Given the description of an element on the screen output the (x, y) to click on. 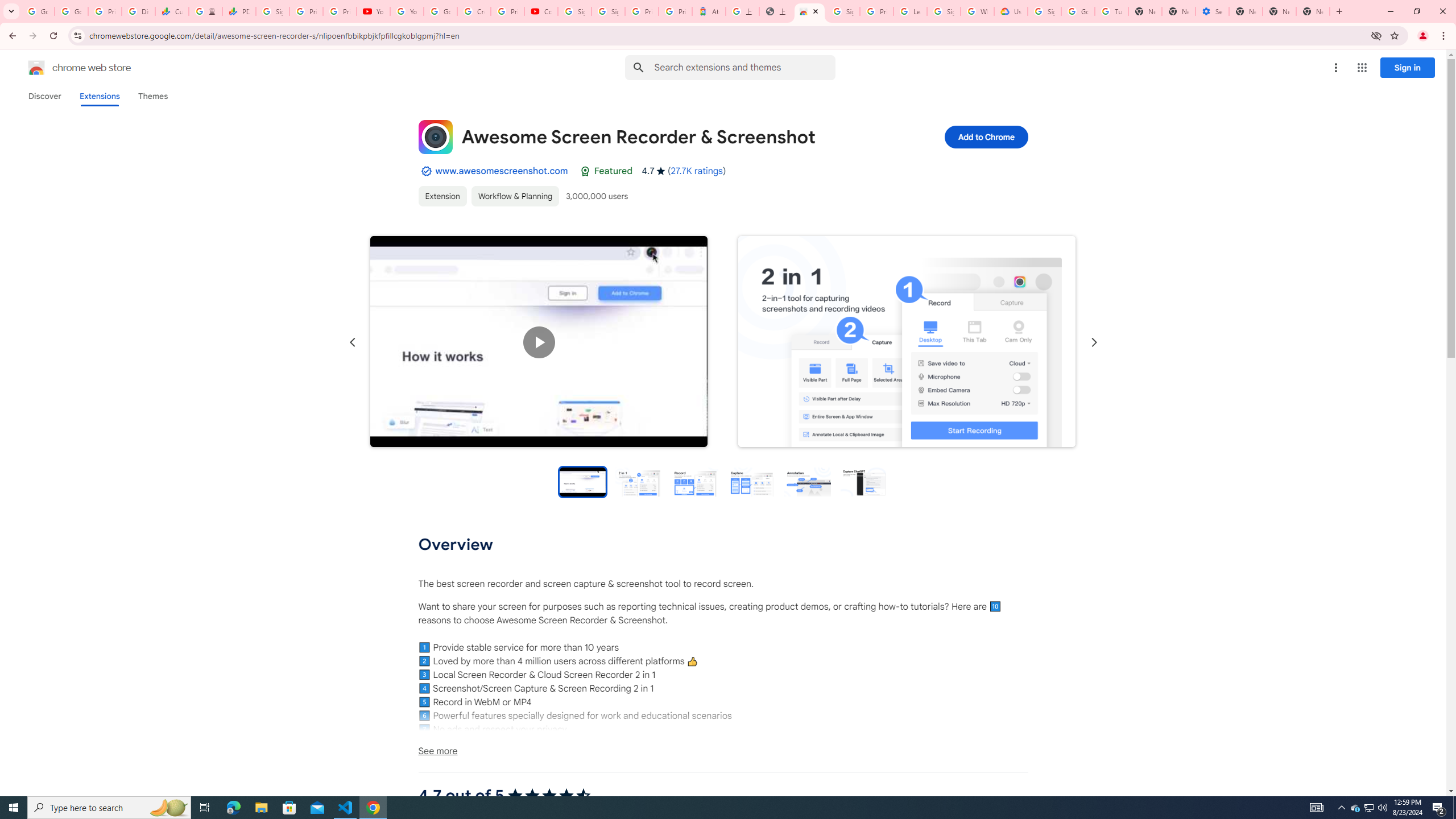
YouTube (406, 11)
Currencies - Google Finance (171, 11)
4.7 out of 5 stars (549, 795)
Content Creator Programs & Opportunities - YouTube Creators (541, 11)
More options menu (1335, 67)
Awesome Screen Recorder & Screenshot - Chrome Web Store (809, 11)
Sign in - Google Accounts (1043, 11)
